Given the description of an element on the screen output the (x, y) to click on. 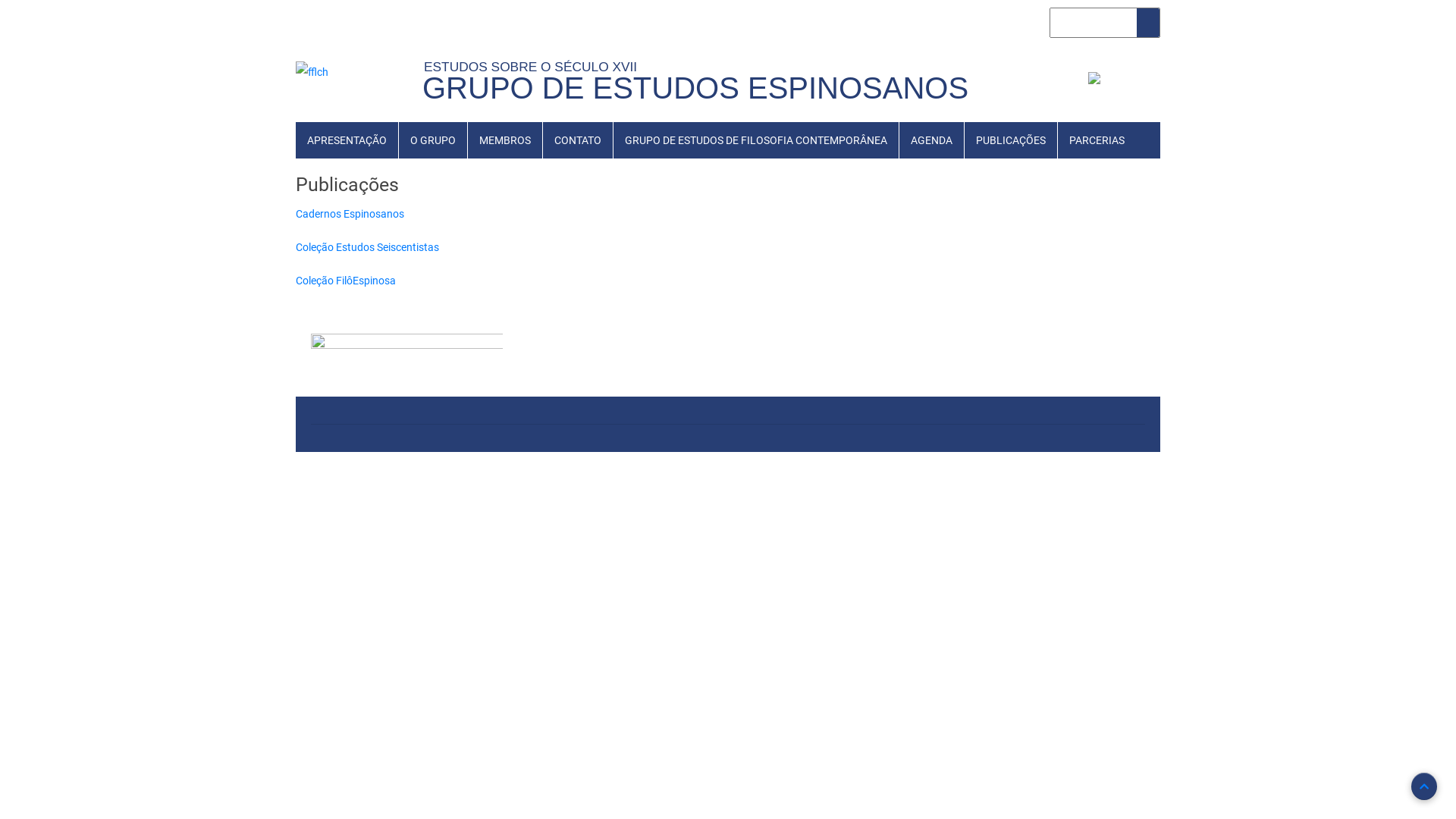
CONTATO Element type: text (577, 140)
Buscar Element type: text (1147, 22)
Back to Top Element type: hover (1424, 786)
AGENDA Element type: text (931, 140)
O GRUPO Element type: text (432, 140)
GRUPO DE ESTUDOS ESPINOSANOS Element type: text (695, 87)
MEMBROS Element type: text (504, 140)
Cadernos Espinosanos Element type: text (349, 213)
PARCERIAS Element type: text (1096, 140)
